Given the description of an element on the screen output the (x, y) to click on. 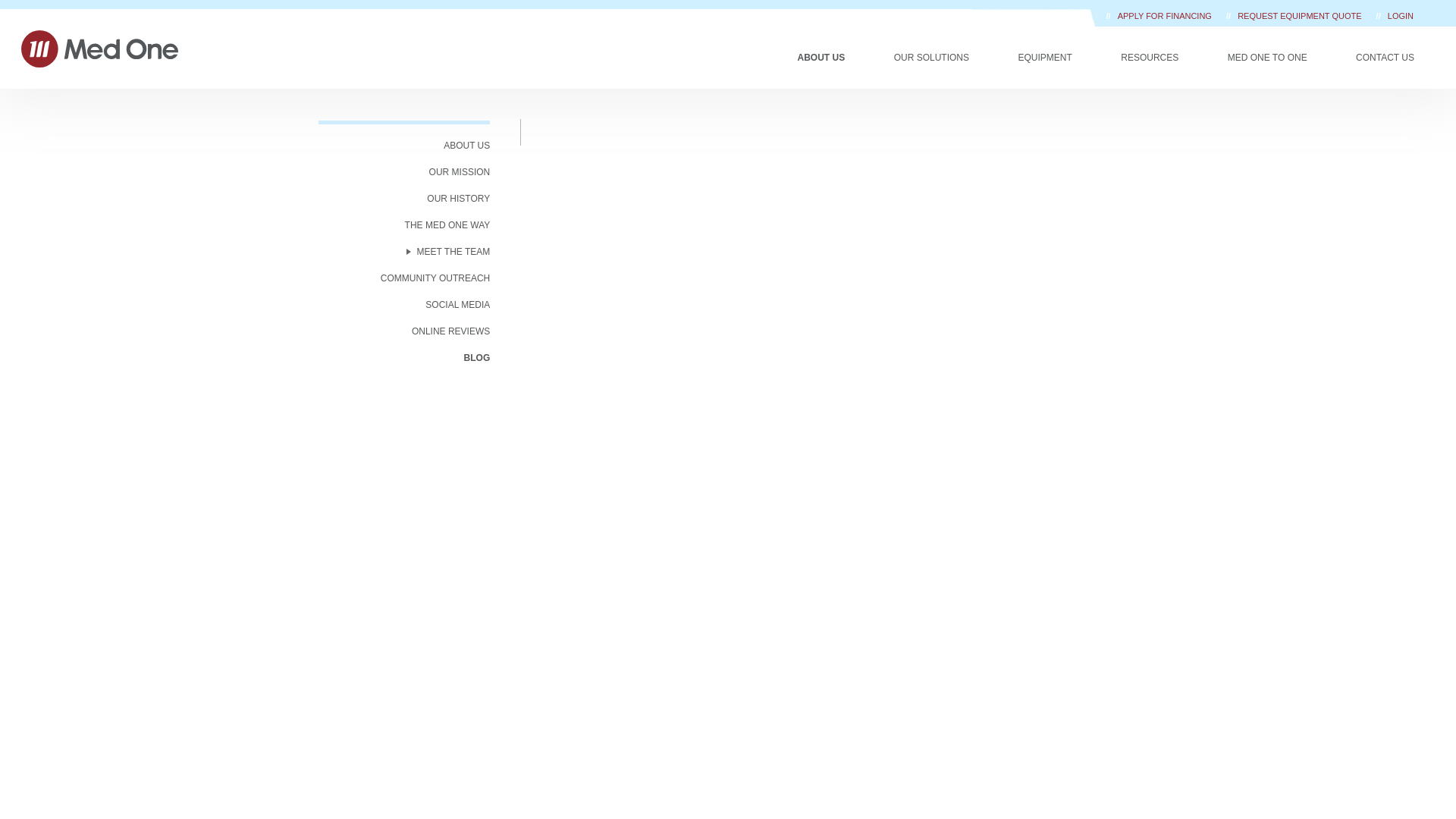
REQUEST EQUIPMENT QUOTE (1299, 15)
LOGIN (1400, 15)
APPLY FOR FINANCING (1166, 15)
